Given the description of an element on the screen output the (x, y) to click on. 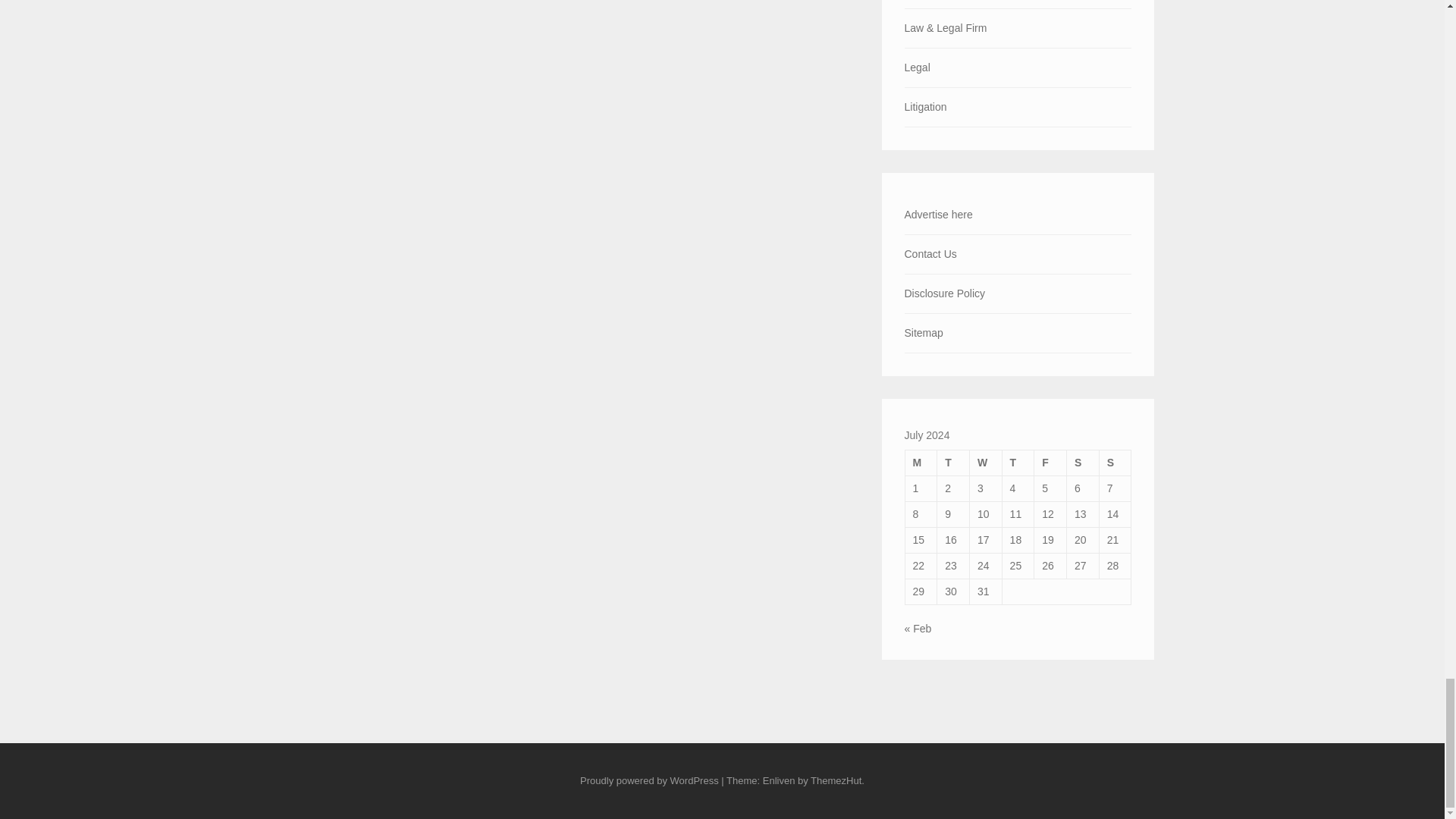
Friday (1050, 462)
Wednesday (985, 462)
Monday (920, 462)
Sunday (1115, 462)
Tuesday (953, 462)
Saturday (1083, 462)
Thursday (1017, 462)
